Given the description of an element on the screen output the (x, y) to click on. 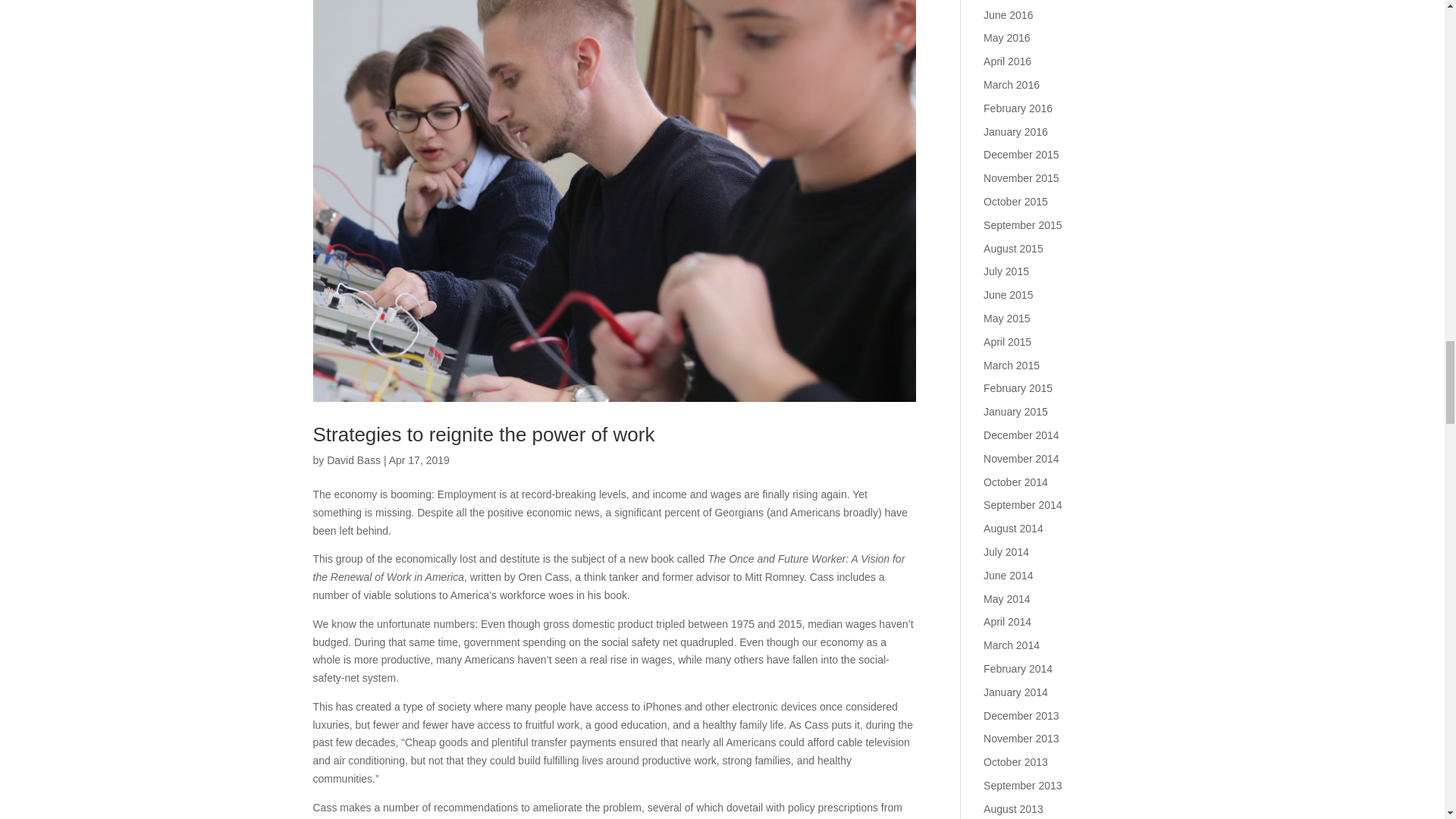
David Bass (353, 460)
Strategies to reignite the power of work (483, 434)
Posts by David Bass (353, 460)
